Given the description of an element on the screen output the (x, y) to click on. 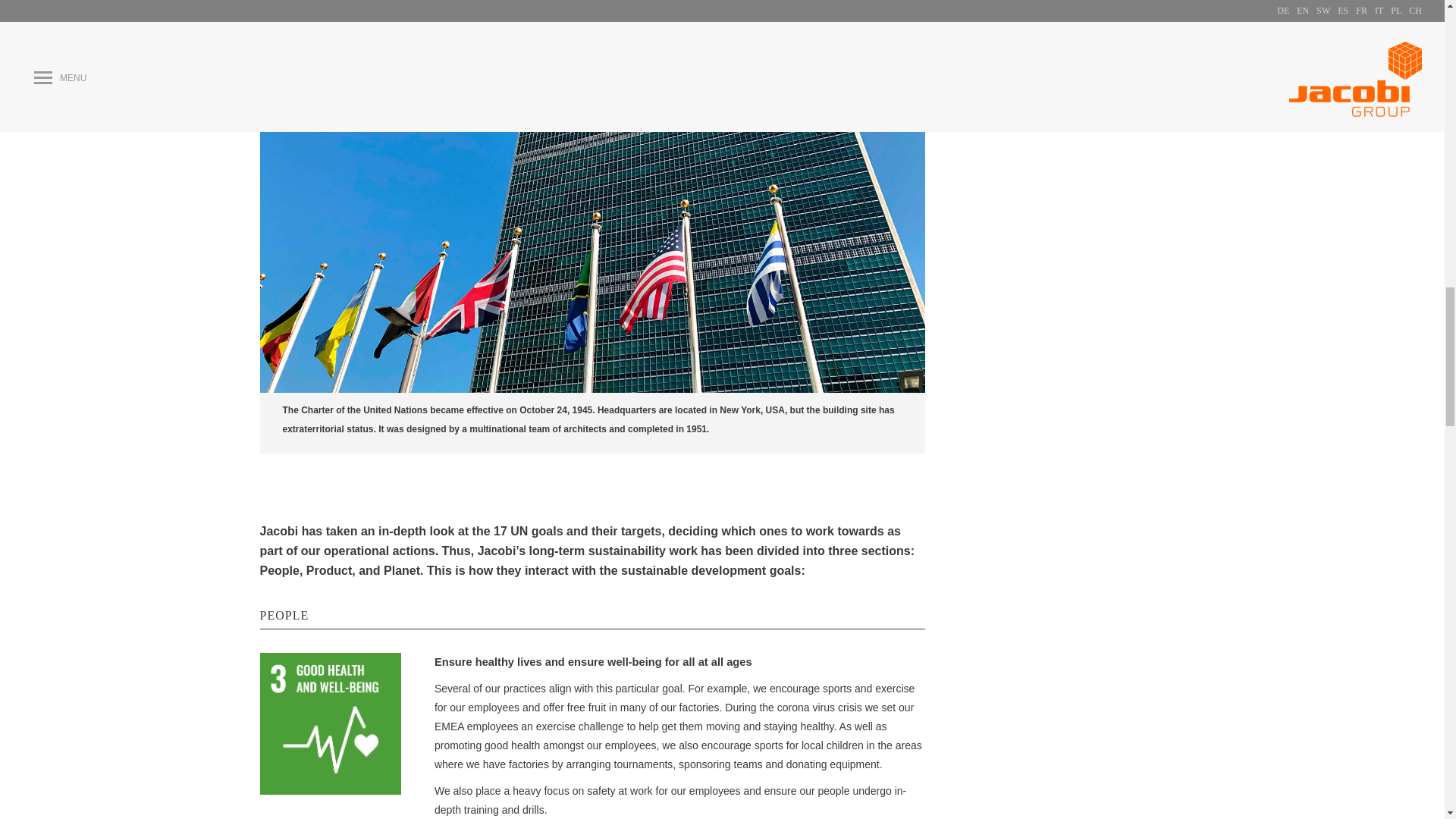
UN Sustainability Goal 3 (329, 722)
